Given the description of an element on the screen output the (x, y) to click on. 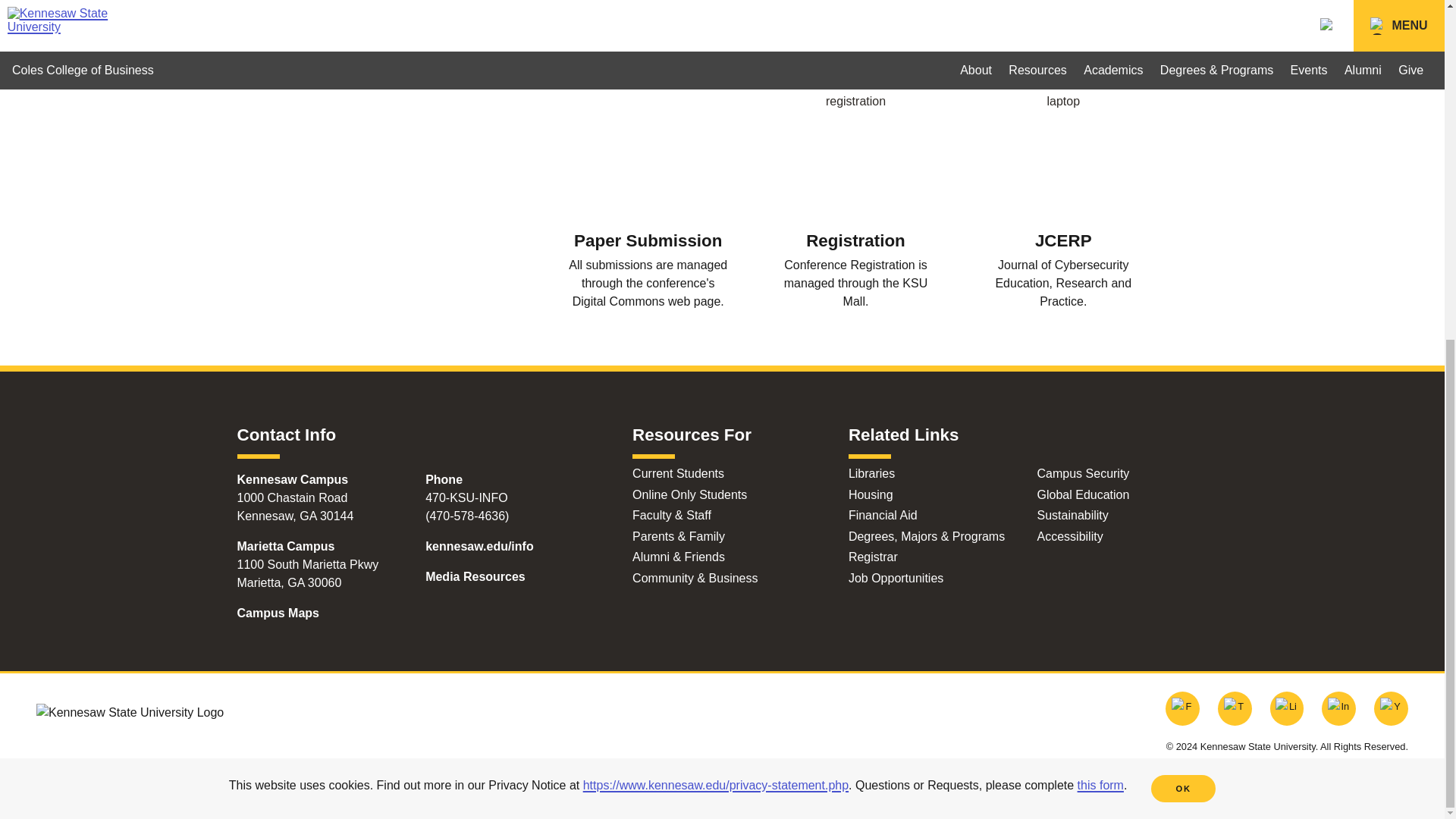
KSU Facebook (1182, 708)
KSU Instagram (1338, 708)
KSU YouTube (1390, 708)
KSU LinkedIn (1286, 708)
KSU Twitter (1234, 708)
